Given the description of an element on the screen output the (x, y) to click on. 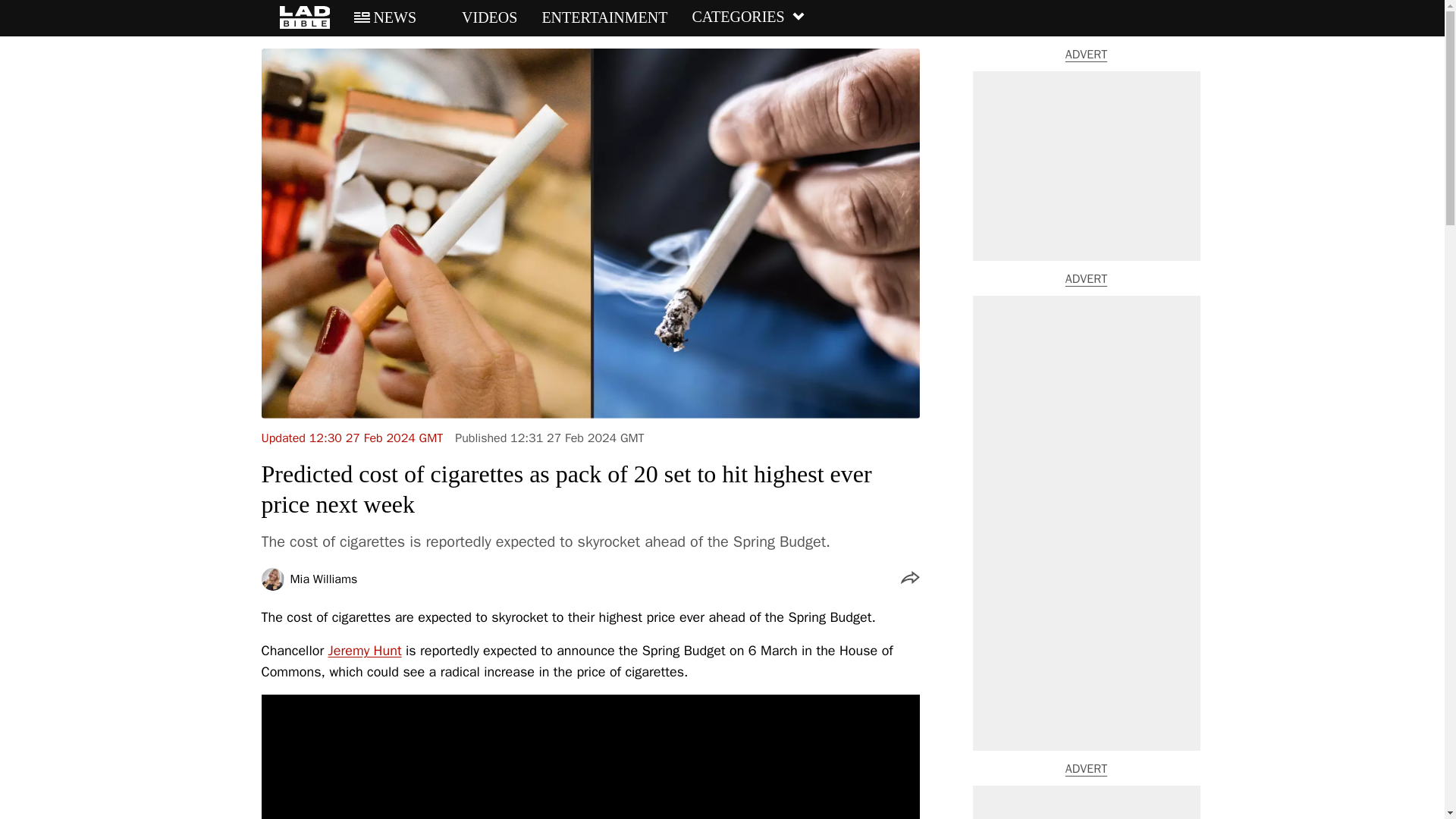
VIDEOS (478, 17)
CATEGORIES (748, 17)
ENTERTAINMENT (603, 17)
NEWS (384, 17)
